Given the description of an element on the screen output the (x, y) to click on. 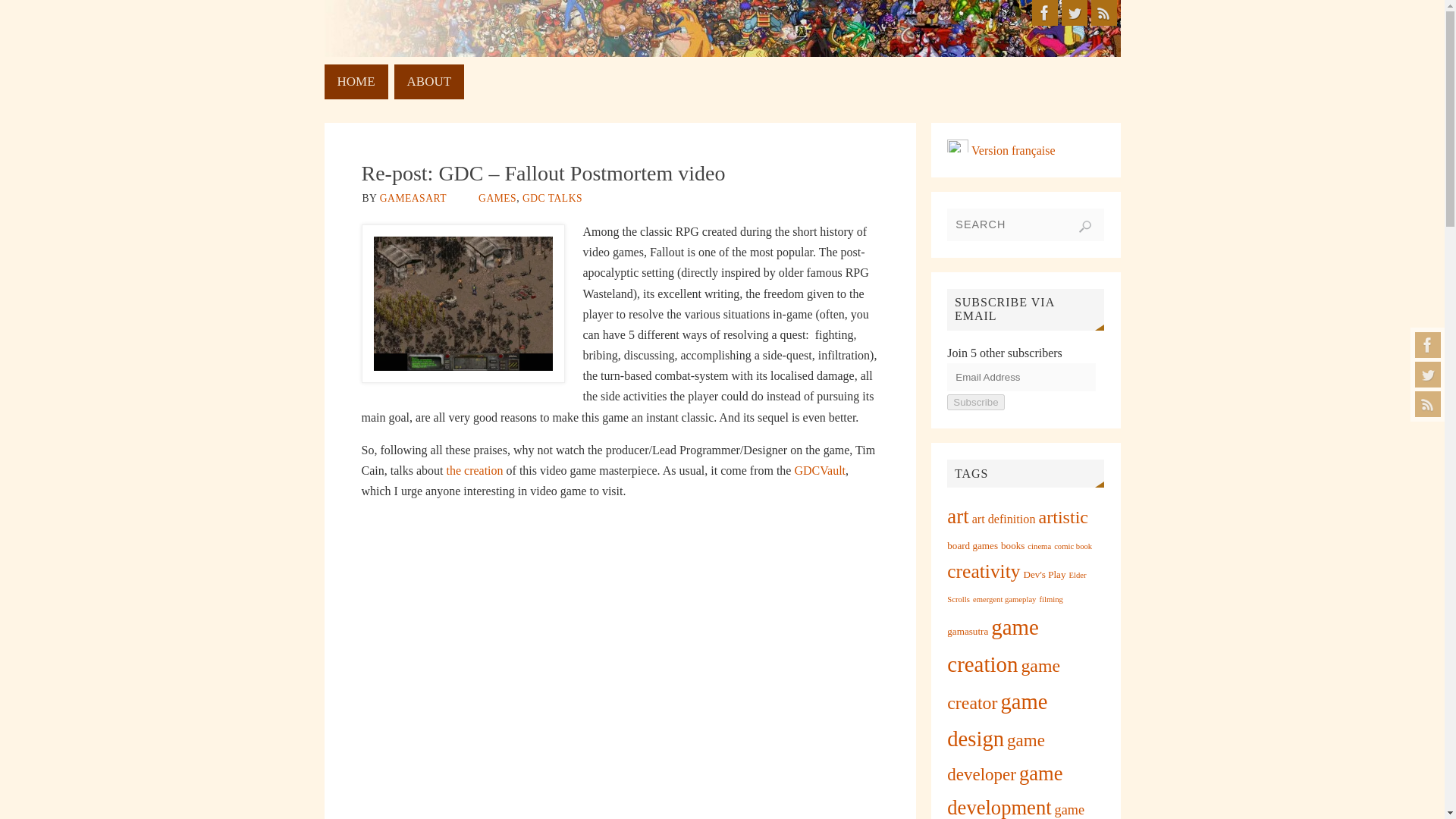
ABOUT (429, 81)
HOME (356, 81)
the creation (473, 470)
GAMEASART (413, 197)
art (957, 516)
Facebook (1428, 344)
Subscribe (975, 401)
GAMES (497, 197)
GDC TALKS (552, 197)
RSS (1103, 12)
Twitter (1074, 12)
GDCVault (819, 470)
View all posts by GameAsArt (413, 197)
Twitter (1428, 374)
RSS (1428, 403)
